Given the description of an element on the screen output the (x, y) to click on. 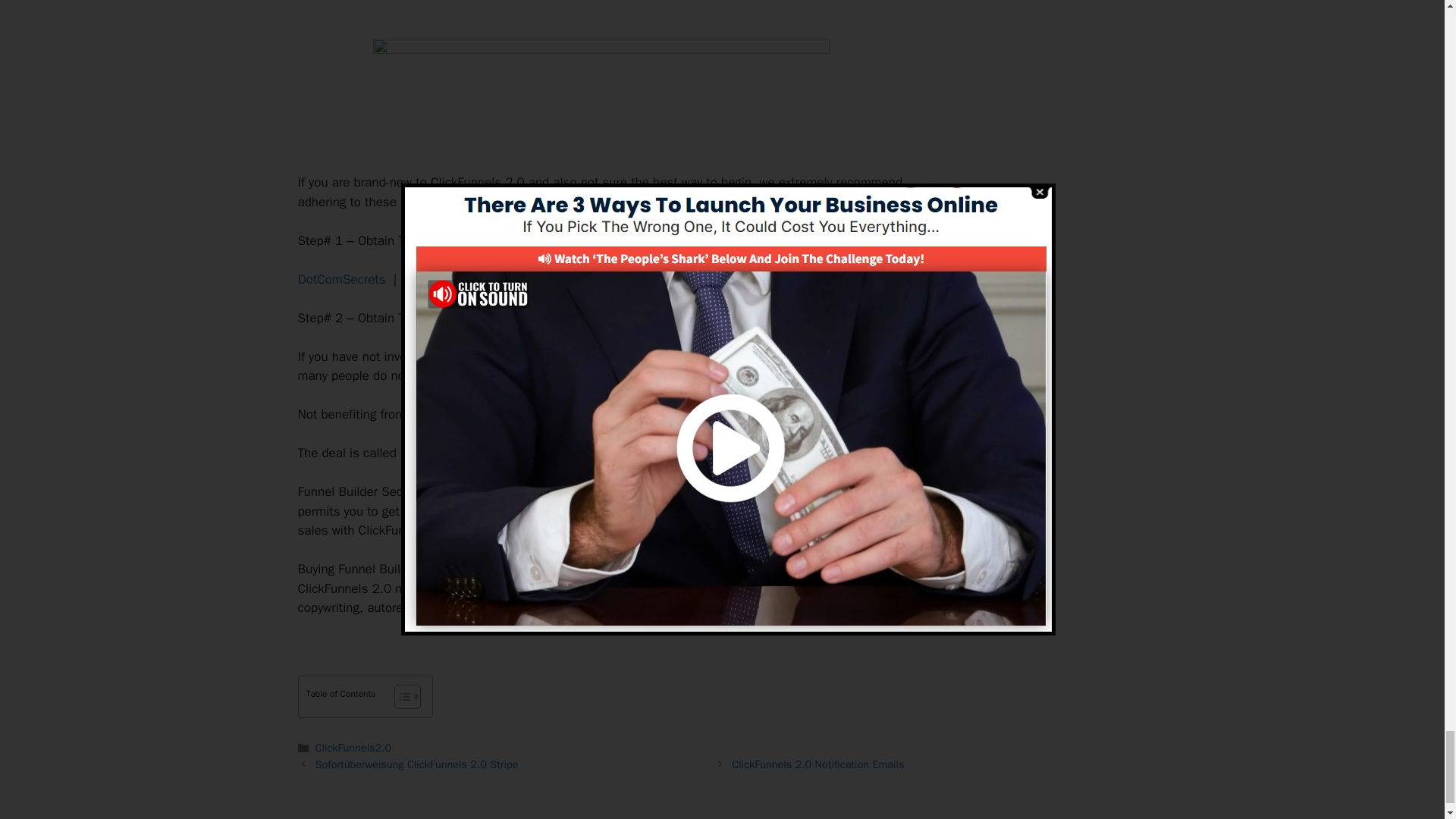
Expert Secrets (445, 279)
Traffic Secrets (545, 279)
Funnel Builder Secrets (463, 453)
ClickFunnels 2.0 (495, 356)
DotComSecrets (341, 279)
